Given the description of an element on the screen output the (x, y) to click on. 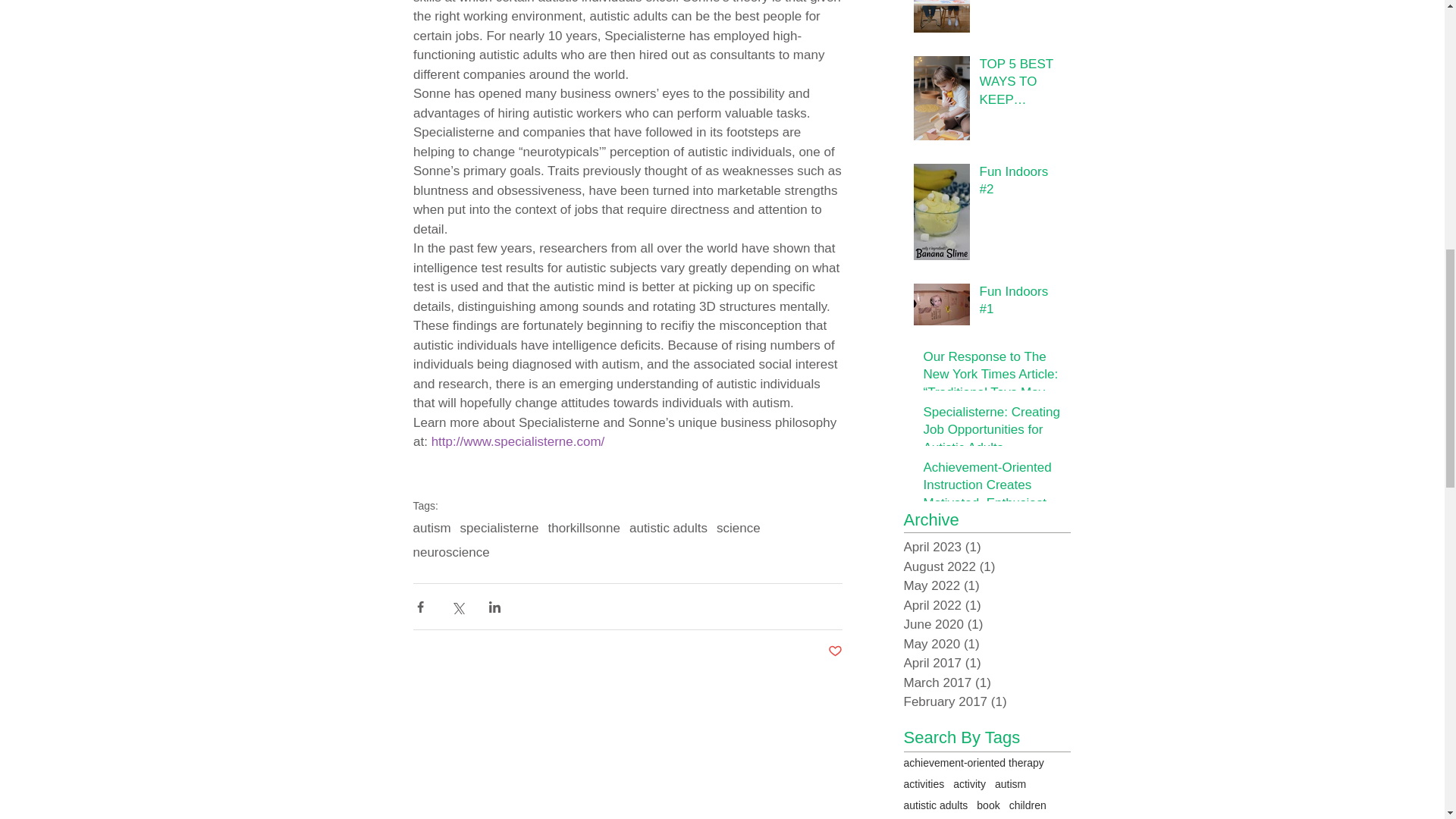
autism (430, 528)
science (738, 528)
neuroscience (450, 552)
thorkillsonne (584, 528)
autistic adults (667, 528)
Post not marked as liked (835, 651)
specialisterne (499, 528)
